Given the description of an element on the screen output the (x, y) to click on. 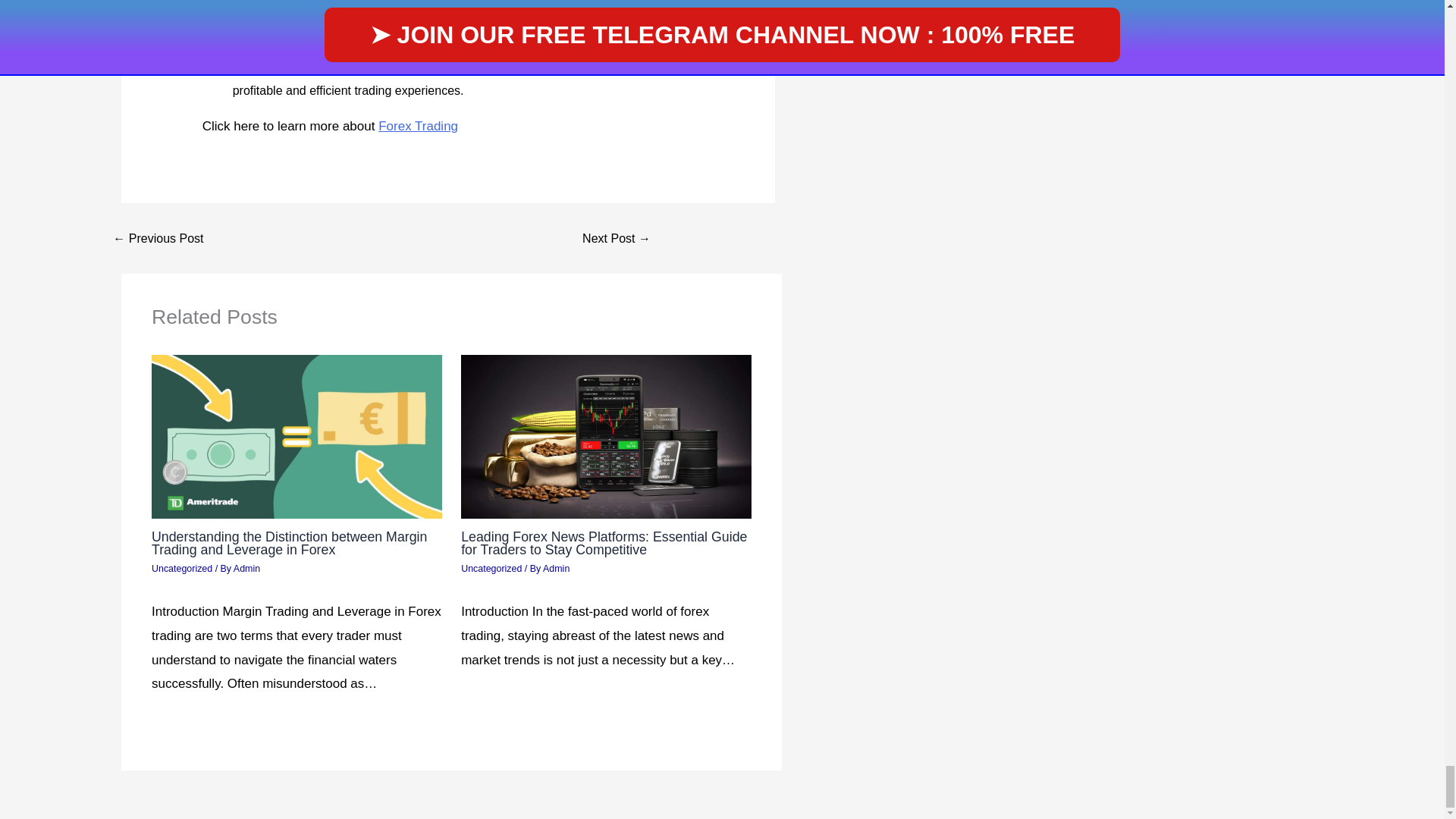
Uncategorized (181, 568)
Uncategorized (491, 568)
Forex Trading (418, 125)
Admin (246, 568)
Admin (556, 568)
